Given the description of an element on the screen output the (x, y) to click on. 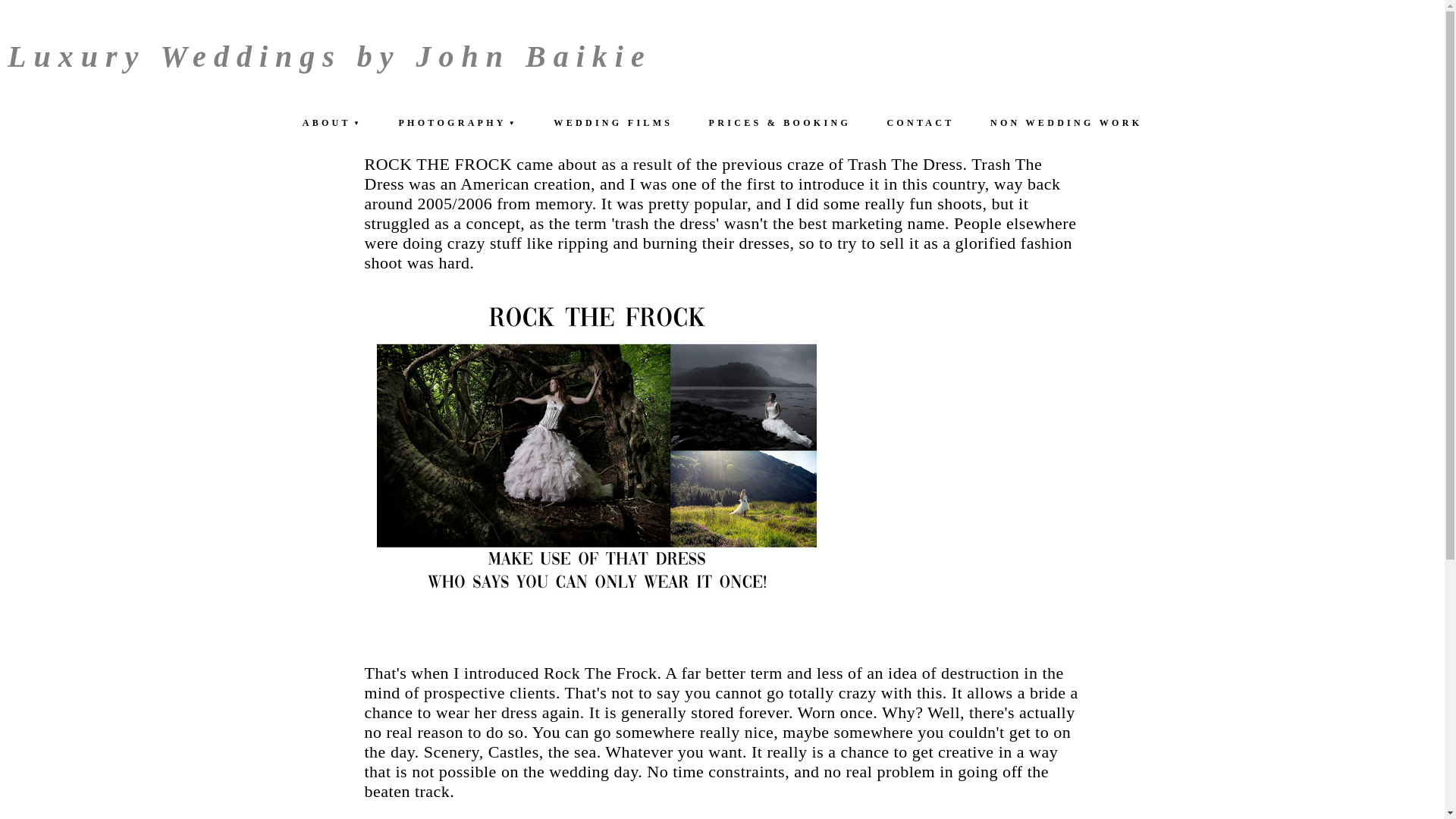
CONTACT (919, 122)
WEDDING FILMS (612, 122)
Luxury Weddings by John Baikie (329, 56)
Luxury Weddings by John Baikie (329, 56)
NON WEDDING WORK (1066, 122)
